Given the description of an element on the screen output the (x, y) to click on. 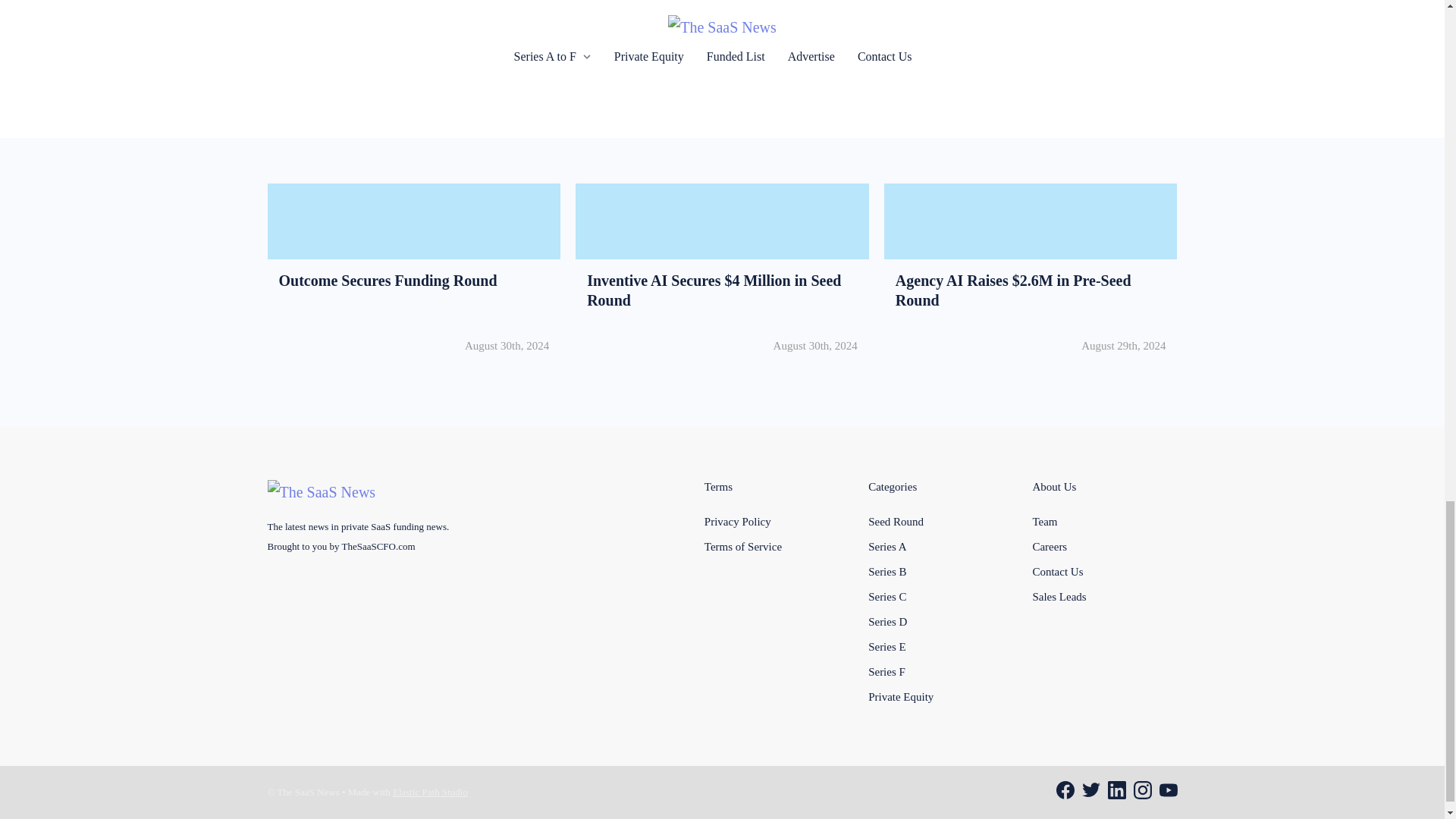
Series D (887, 621)
Contact Us (1057, 571)
Series B (886, 571)
Careers (1049, 545)
Private Equity (900, 695)
Seed Round (895, 521)
Privacy Policy (737, 521)
Series C (413, 274)
Terms of Service (886, 595)
